Given the description of an element on the screen output the (x, y) to click on. 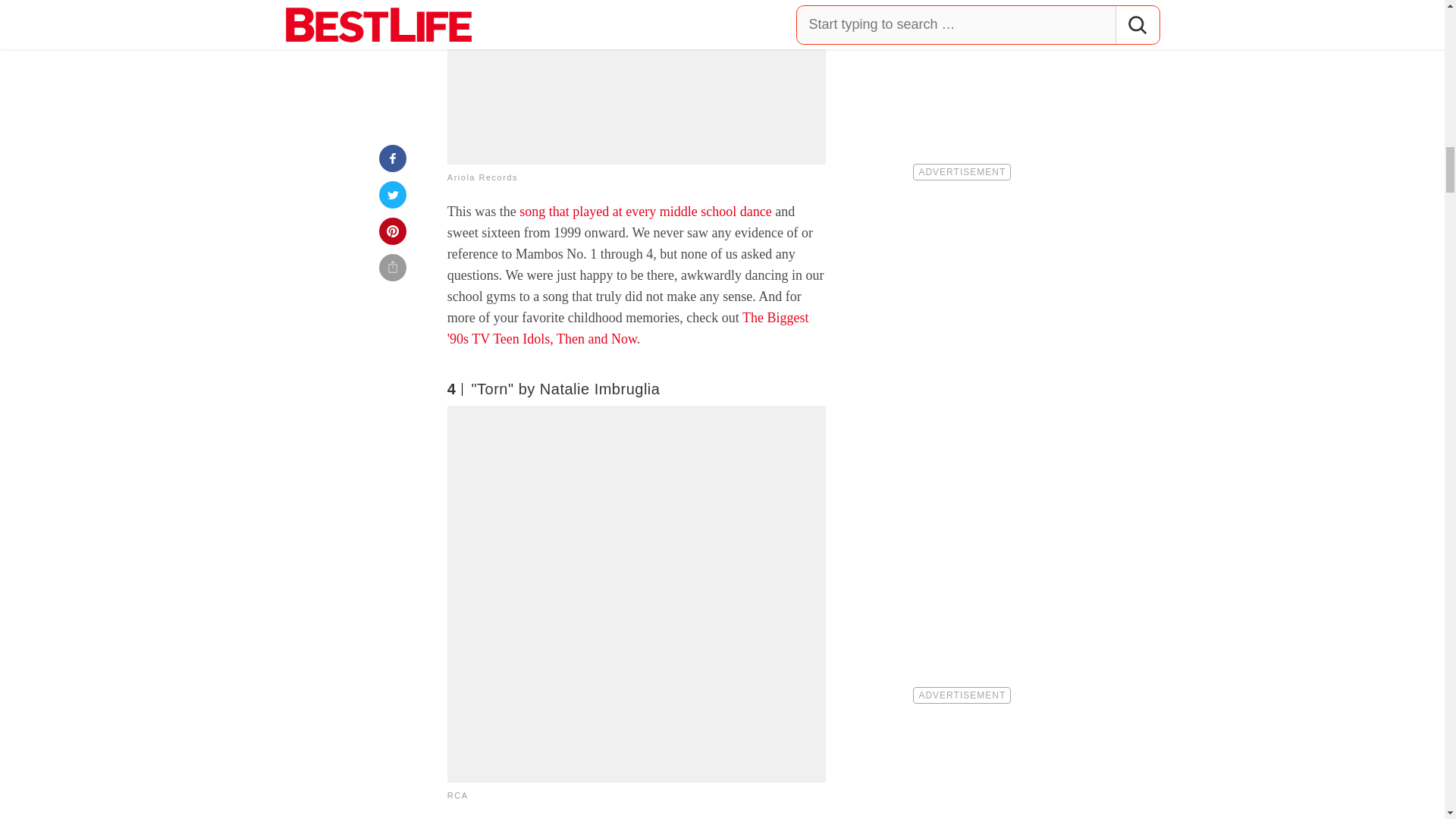
The Biggest '90s TV Teen Idols, Then and Now (627, 328)
song that played at every middle school dance (645, 211)
